Given the description of an element on the screen output the (x, y) to click on. 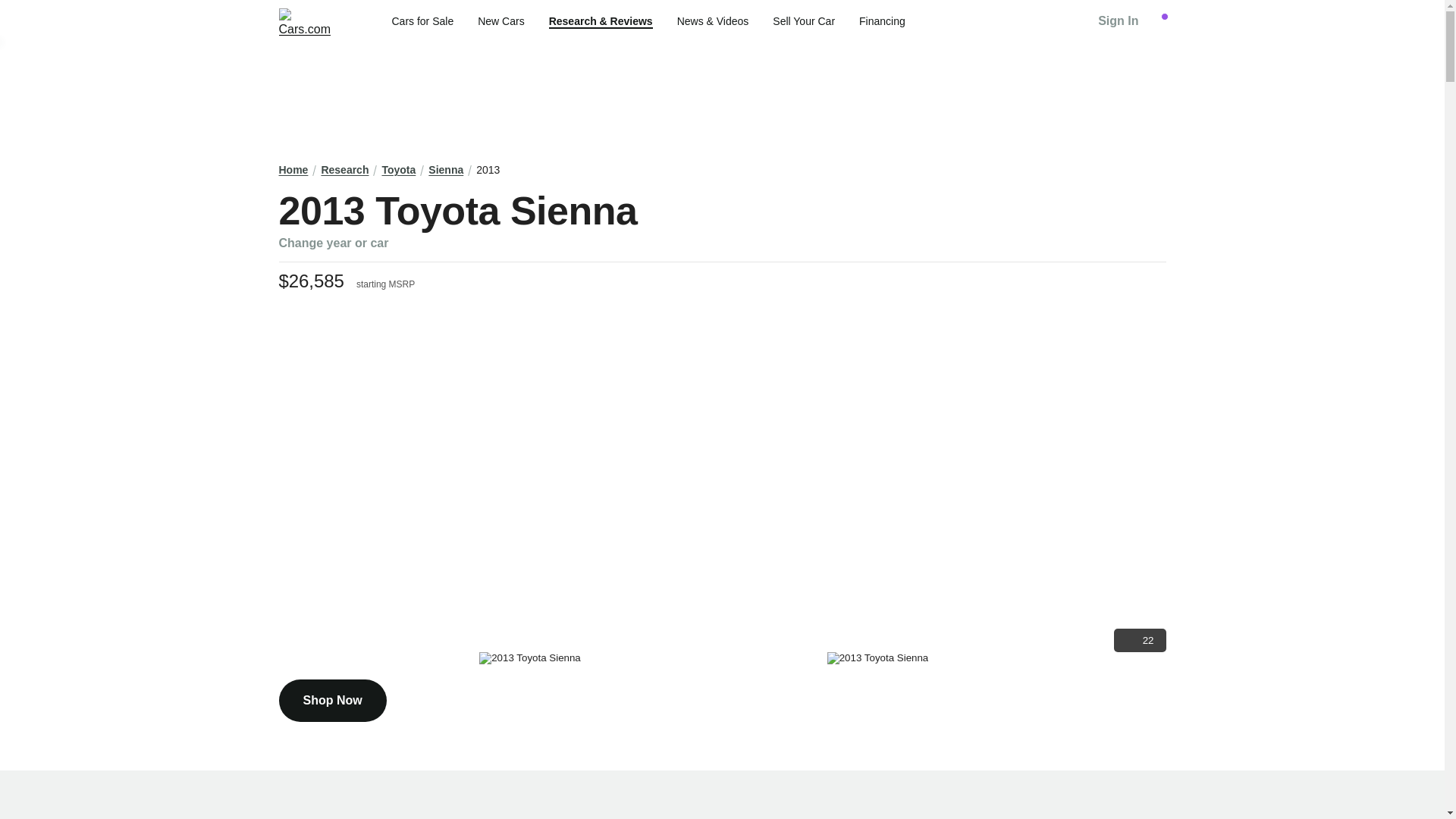
Skip to main content (12, 11)
Cars for Sale (421, 21)
New Cars (500, 21)
Research (344, 170)
Financing (882, 21)
Toyota (397, 170)
Sell Your Car (803, 21)
Home (293, 170)
Shop Now (333, 700)
Sienna (445, 170)
